Given the description of an element on the screen output the (x, y) to click on. 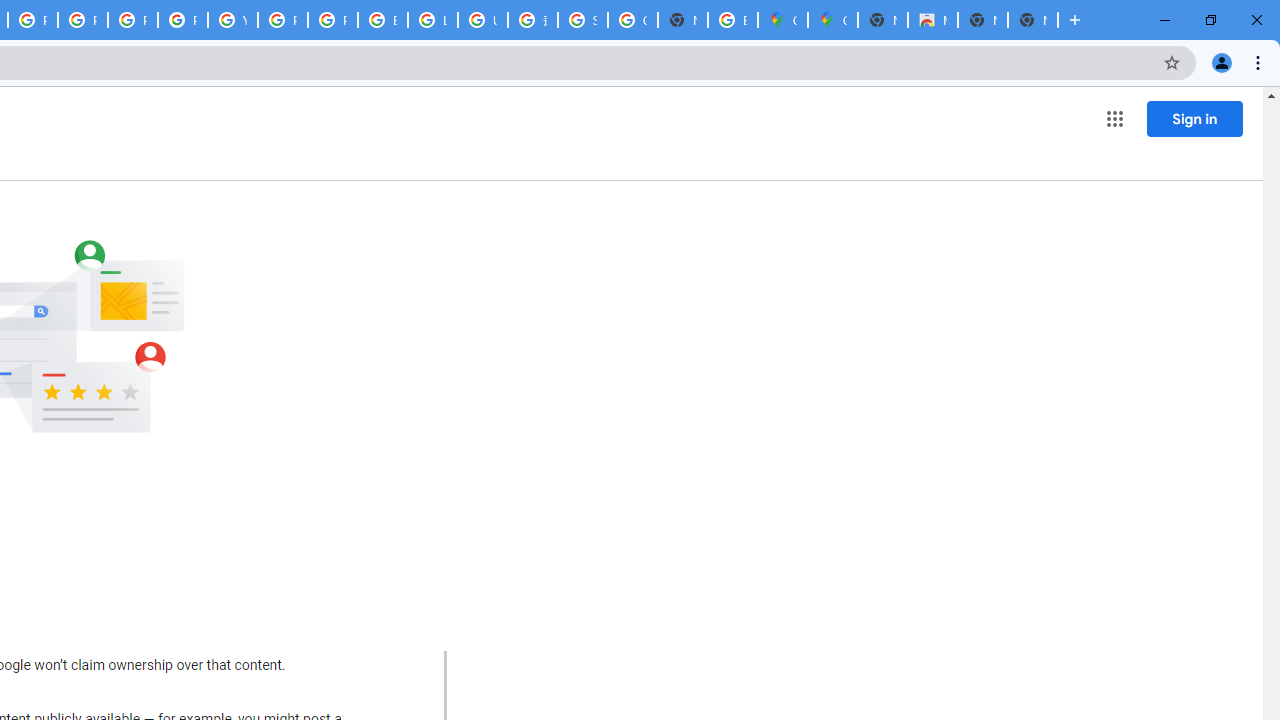
Sign in - Google Accounts (582, 20)
Privacy Help Center - Policies Help (82, 20)
Google Maps (832, 20)
Sign in (1194, 118)
Google apps (1114, 118)
Explore new street-level details - Google Maps Help (732, 20)
